Given the description of an element on the screen output the (x, y) to click on. 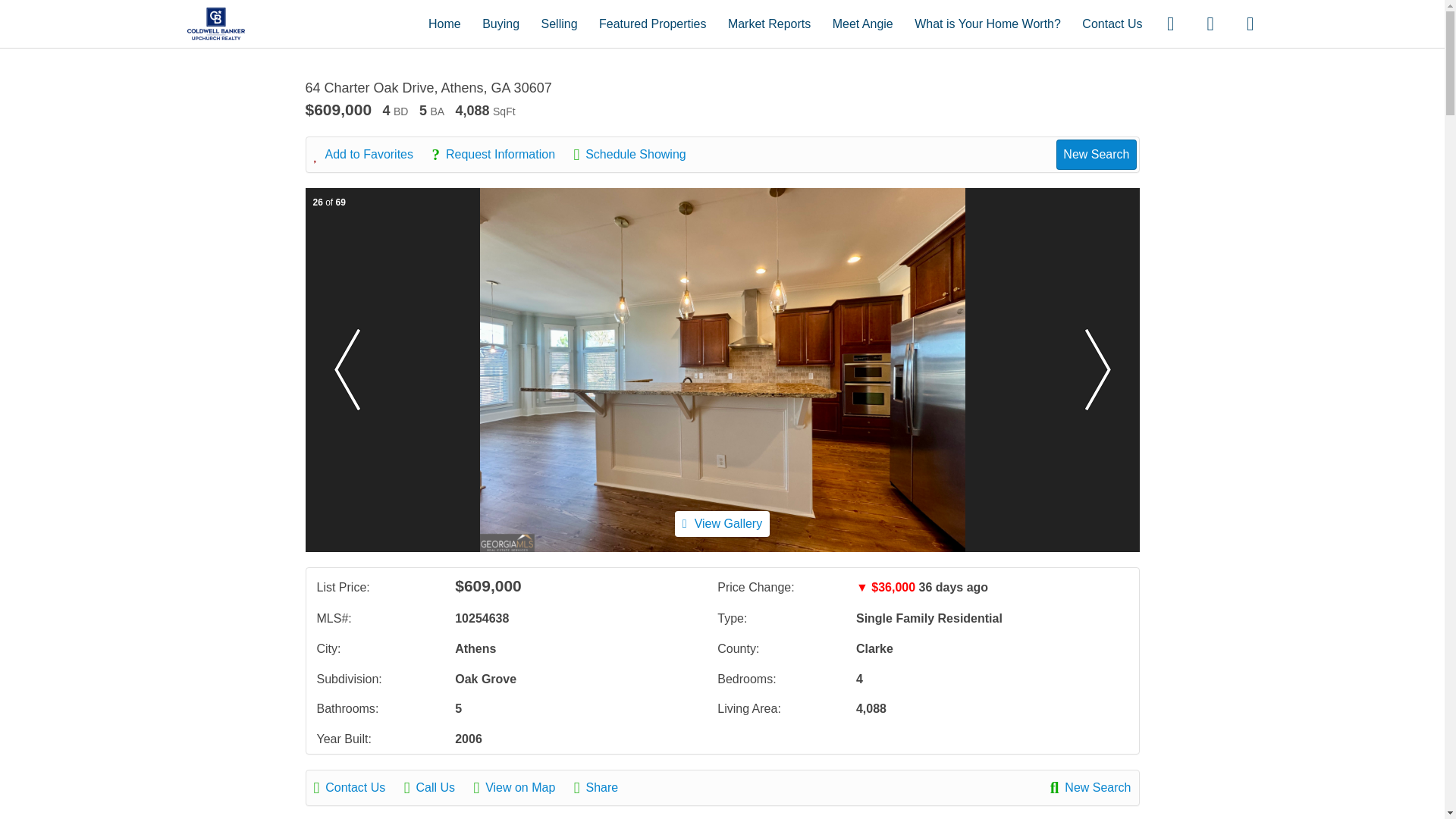
View Gallery (722, 522)
Market Reports (769, 23)
View on Map (521, 787)
Schedule Showing (636, 154)
Buying (500, 23)
Contact Us (357, 787)
Request Information (500, 154)
Home (444, 23)
Share (603, 787)
Featured Properties (652, 23)
Call Us (437, 787)
Contact Us (1111, 23)
Meet Angie (862, 23)
What is Your Home Worth? (987, 23)
Add to Favorites (371, 154)
